Given the description of an element on the screen output the (x, y) to click on. 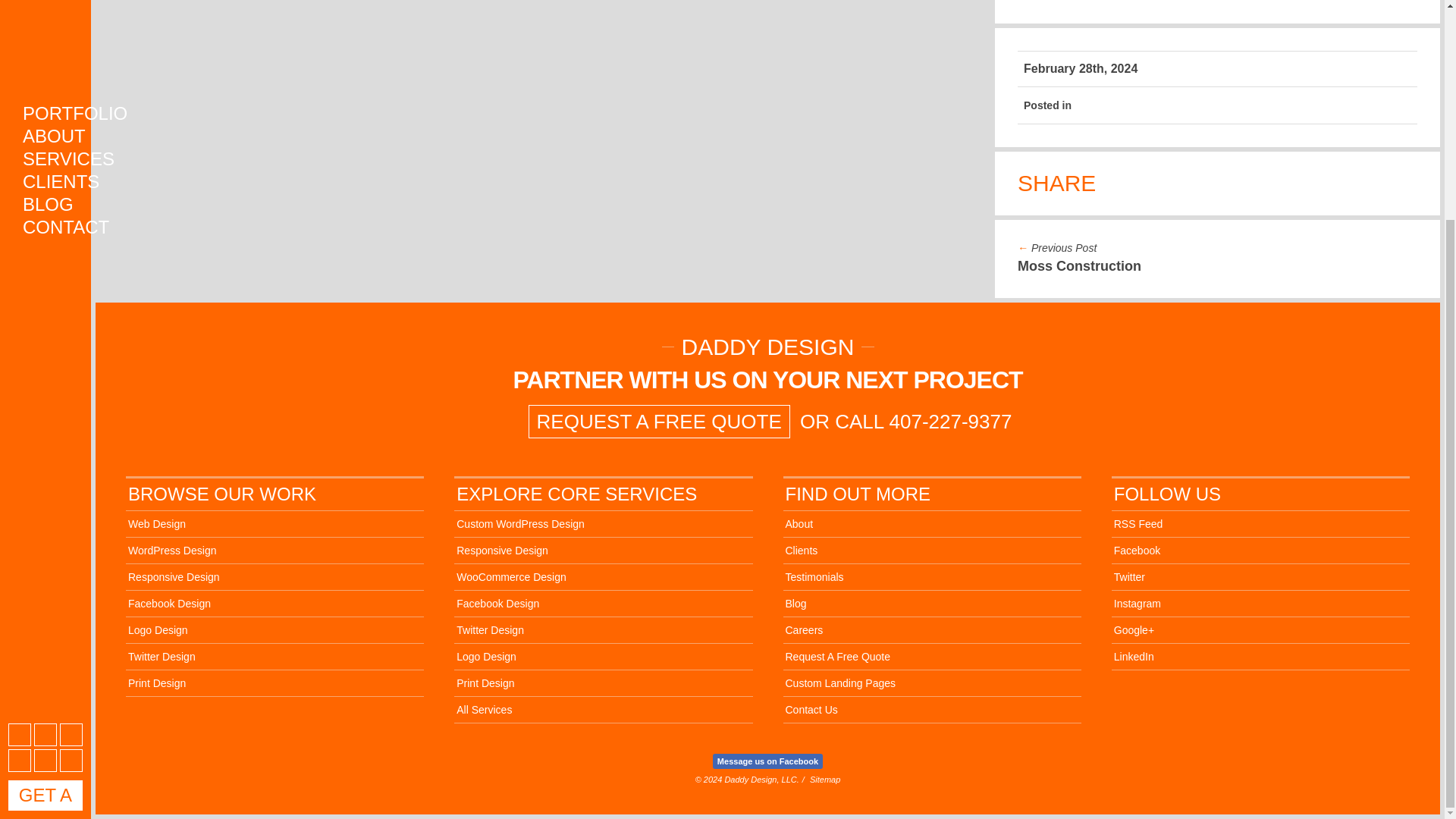
Facebook (44, 444)
Subscribe to our RSS Feed (19, 444)
GET A QUOTE (45, 504)
Facebook (44, 444)
LinkedIn (70, 469)
Twitter (70, 444)
Subscribe to our RSS Feed (19, 444)
Sitemap (824, 778)
Instagram (19, 469)
LinkedIn (70, 469)
